Given the description of an element on the screen output the (x, y) to click on. 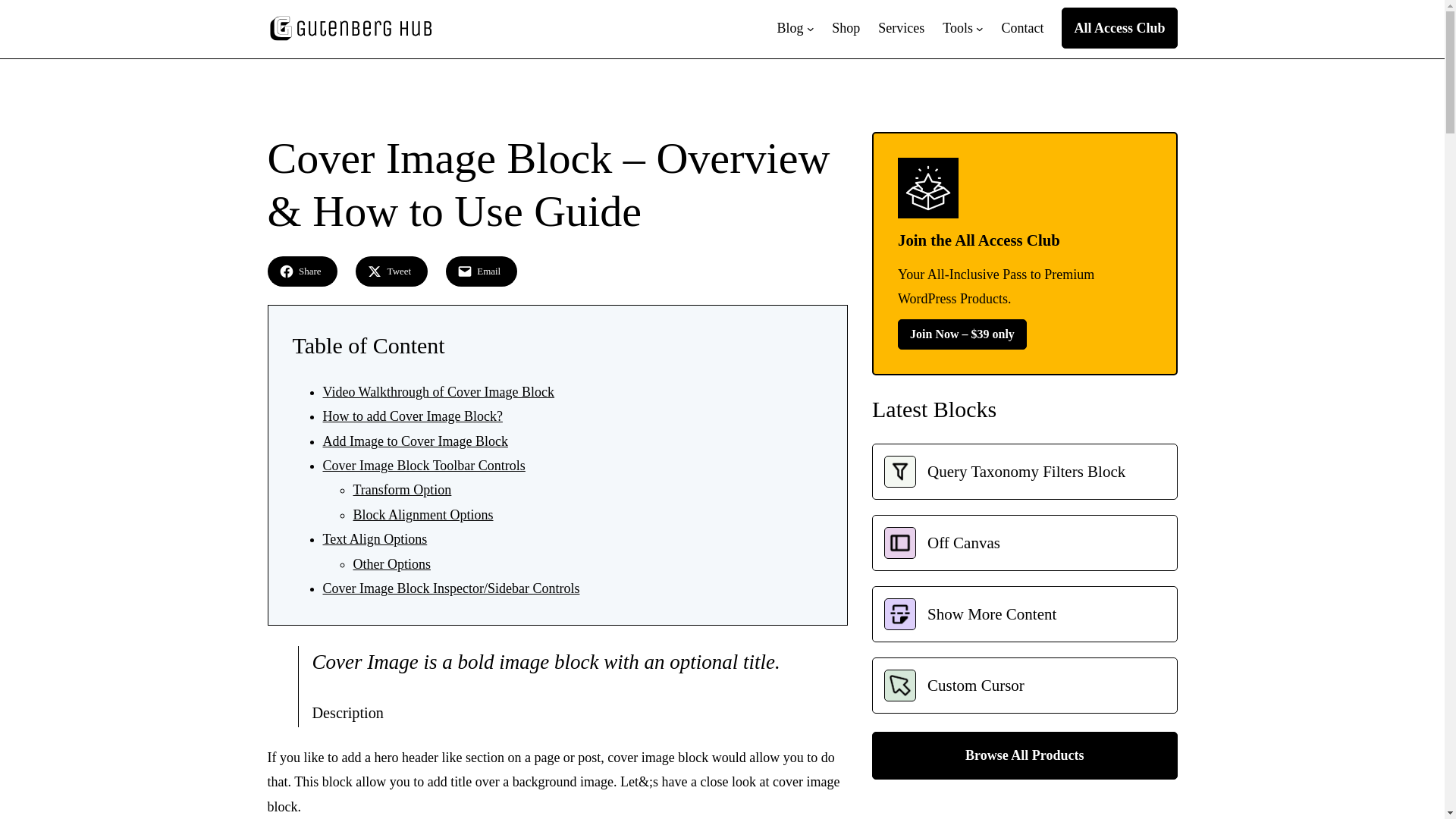
All Access Club (1118, 27)
Other Options (391, 563)
Query Taxonomy Filters Block (1024, 471)
Shop (845, 27)
Blog (790, 27)
Services (900, 27)
Transform Option (402, 489)
Share (301, 271)
Video Walkthrough of Cover Image Block (438, 391)
Email (480, 271)
